Given the description of an element on the screen output the (x, y) to click on. 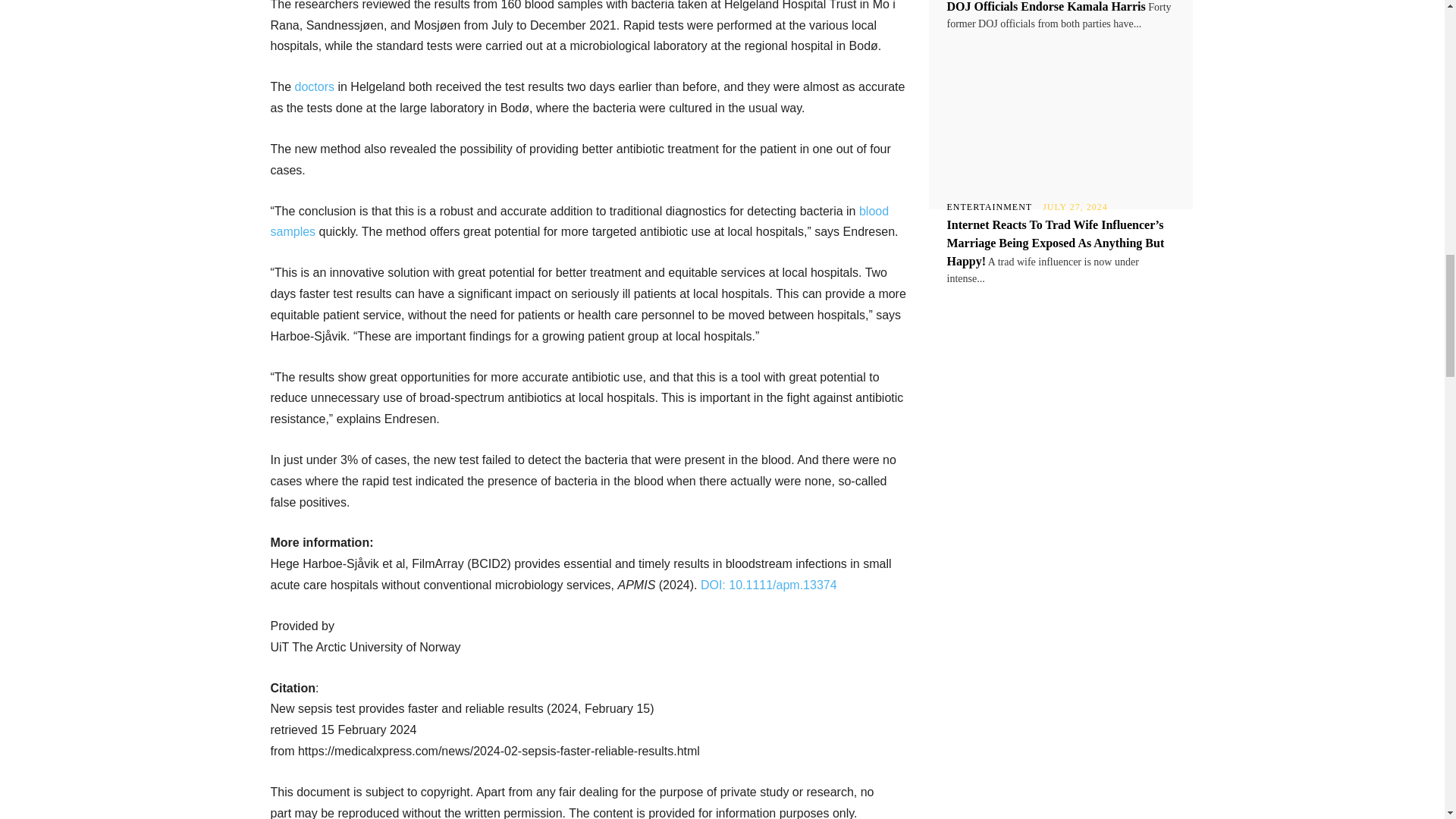
blood samples (578, 221)
doctors (314, 86)
